Given the description of an element on the screen output the (x, y) to click on. 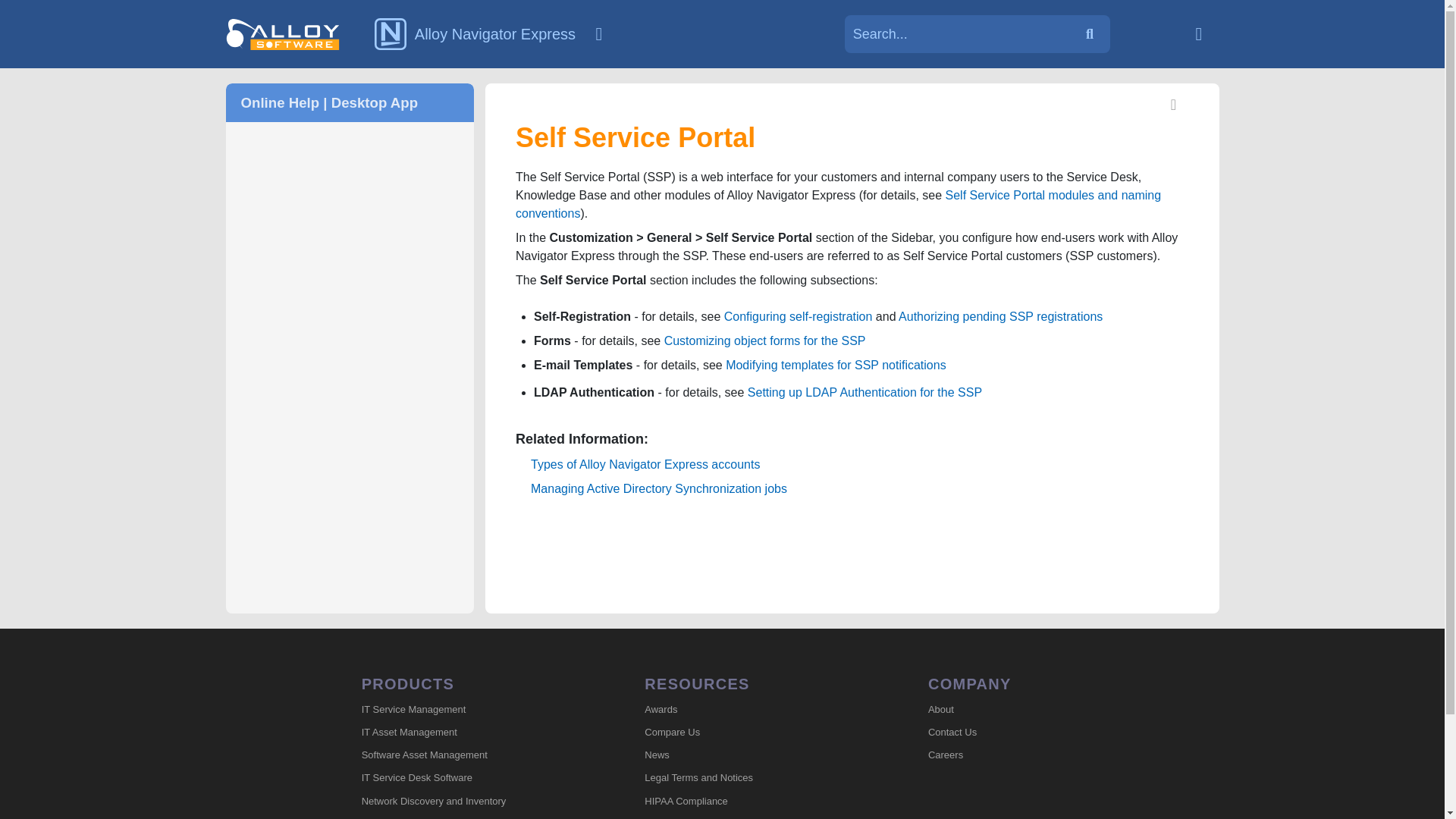
GDPR Compliance (751, 816)
News (751, 755)
Back to Home (1198, 33)
Print (1173, 105)
IT Service Management (468, 709)
Modifying templates for SSP notifications (835, 364)
Compare Us (751, 732)
Managing Active Directory Synchronization jobs (659, 488)
Legal Terms and Notices (751, 778)
HIPAA Compliance (751, 801)
